Given the description of an element on the screen output the (x, y) to click on. 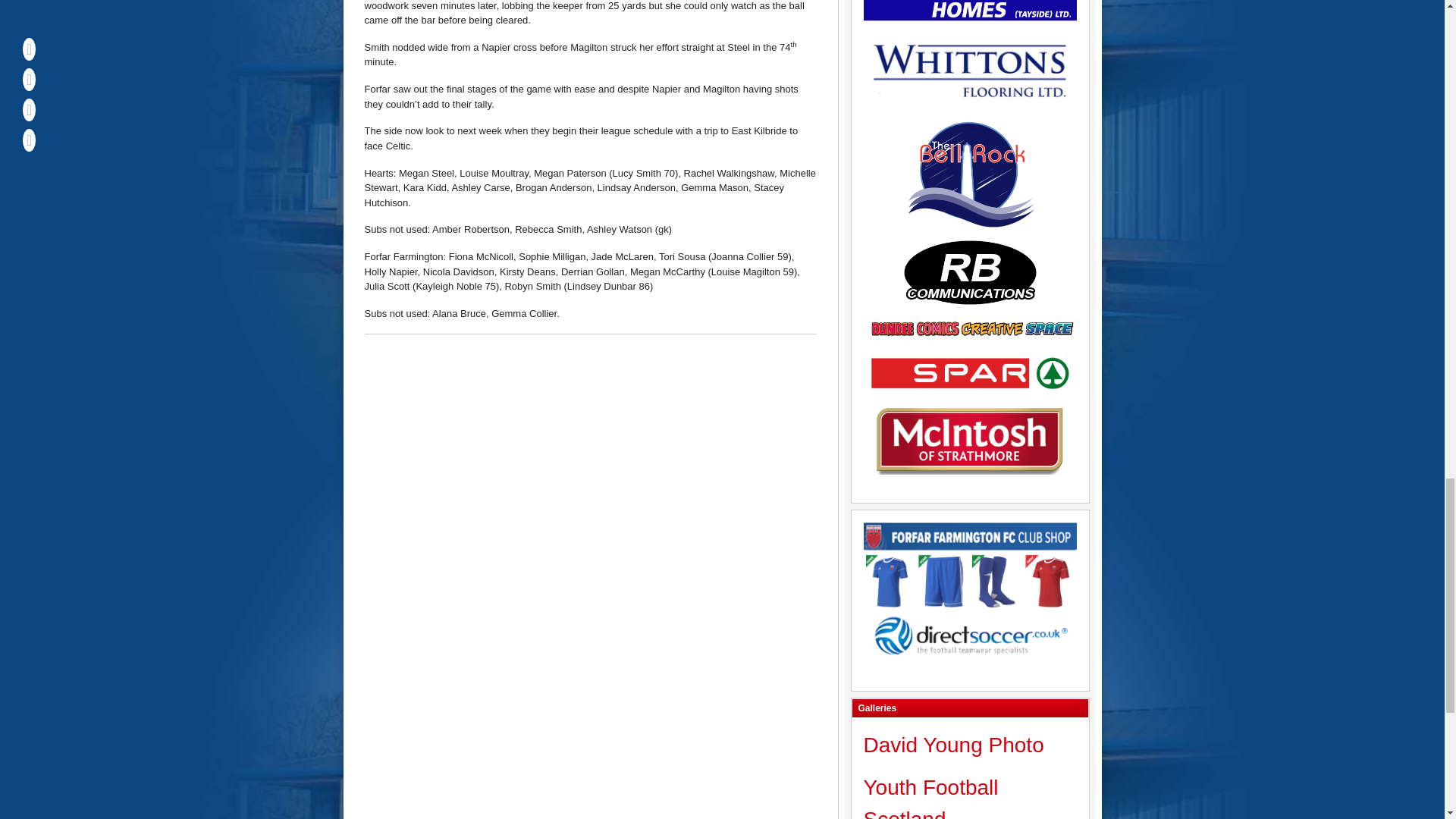
GuildHomesLtd (969, 12)
